Given the description of an element on the screen output the (x, y) to click on. 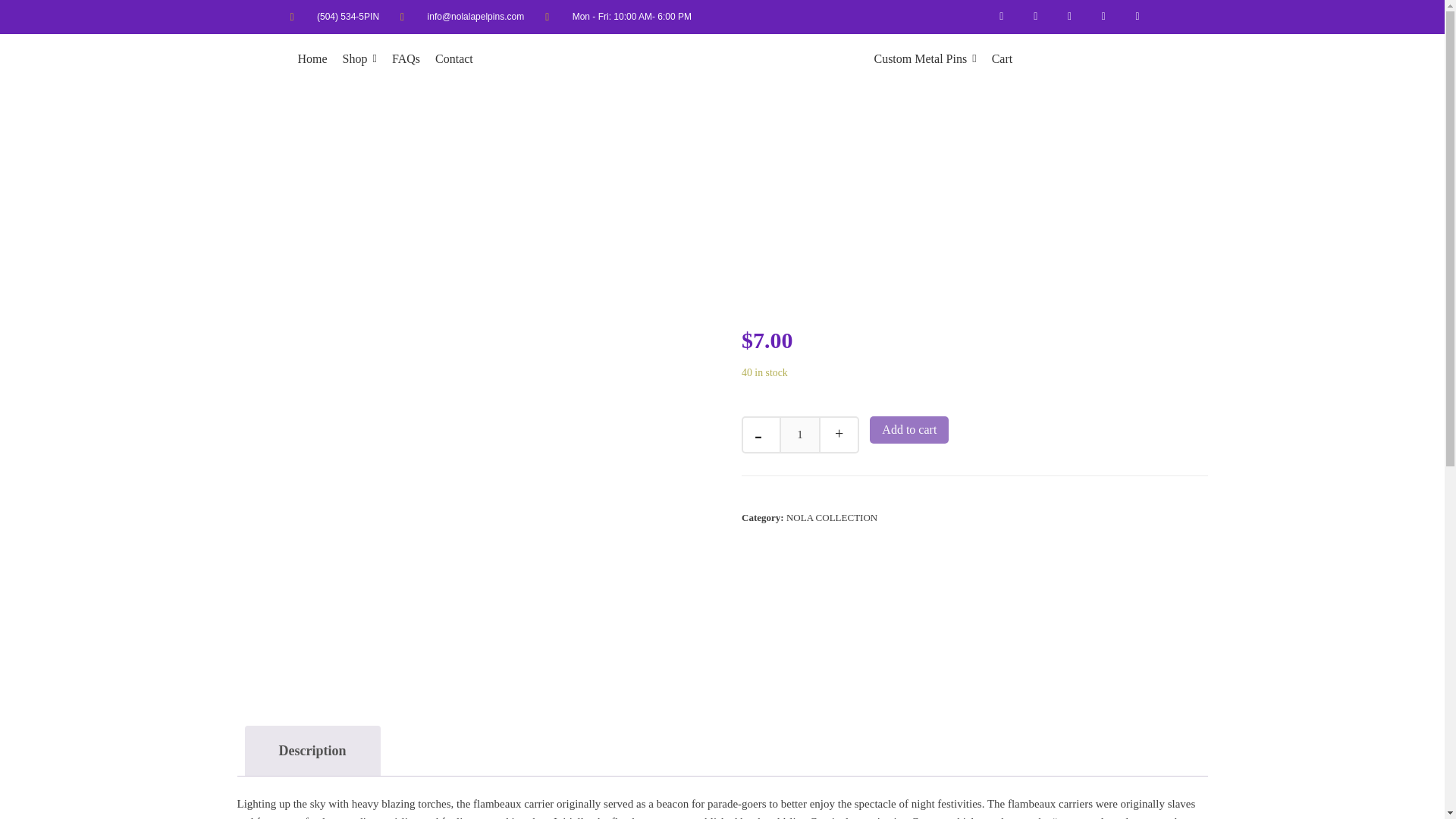
- (757, 435)
Shop (359, 58)
Contact (454, 58)
Qty (799, 434)
1 (799, 434)
